Given the description of an element on the screen output the (x, y) to click on. 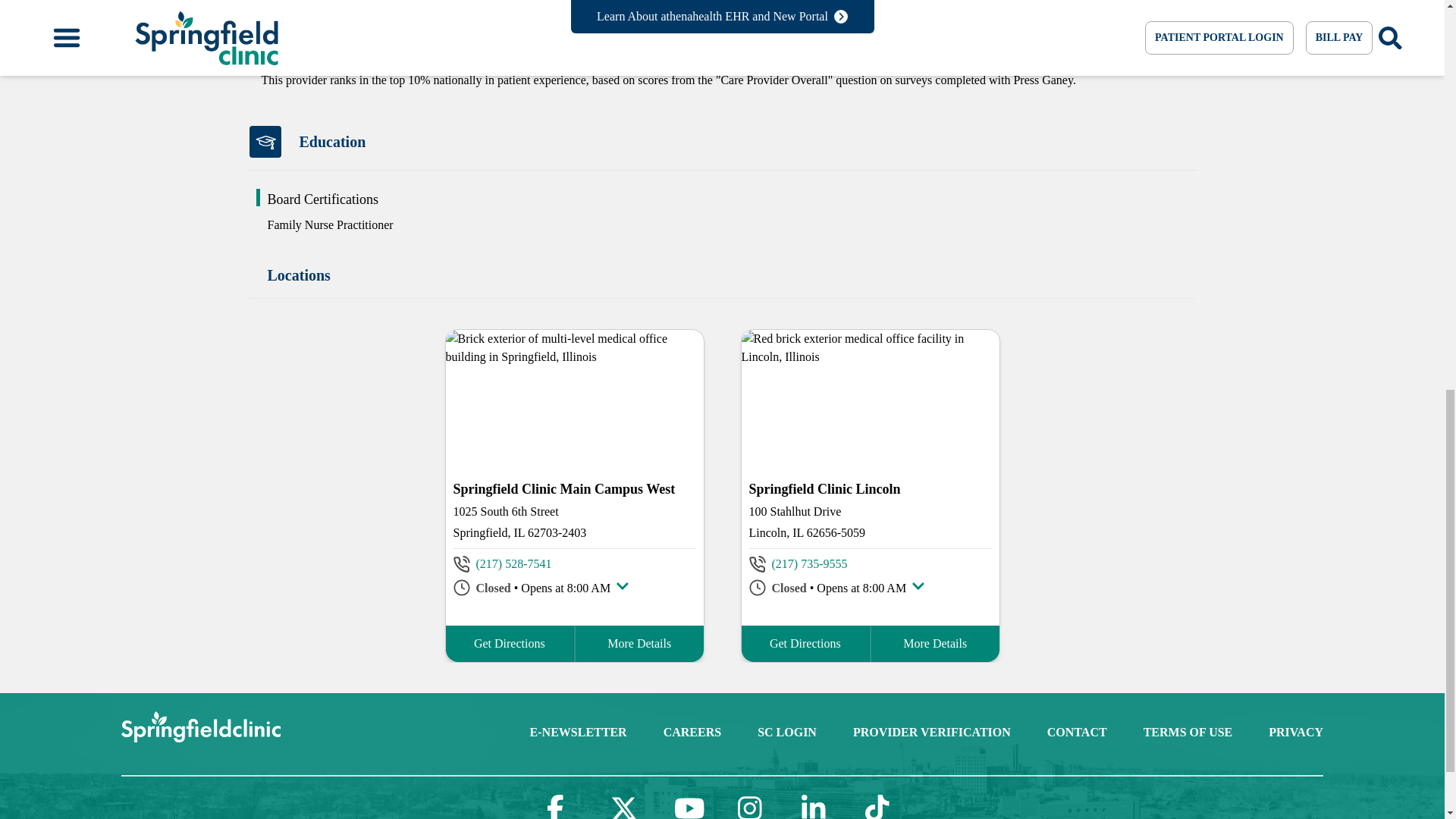
Phone (513, 564)
More Location Details (639, 642)
Get Directions (509, 642)
Get Directions (509, 642)
Location Image (869, 397)
Location Image (574, 397)
Springfield Clinic Main Campus West (573, 487)
Springfield Clinic Lincoln (870, 487)
View Location (573, 487)
More Details (639, 642)
